Given the description of an element on the screen output the (x, y) to click on. 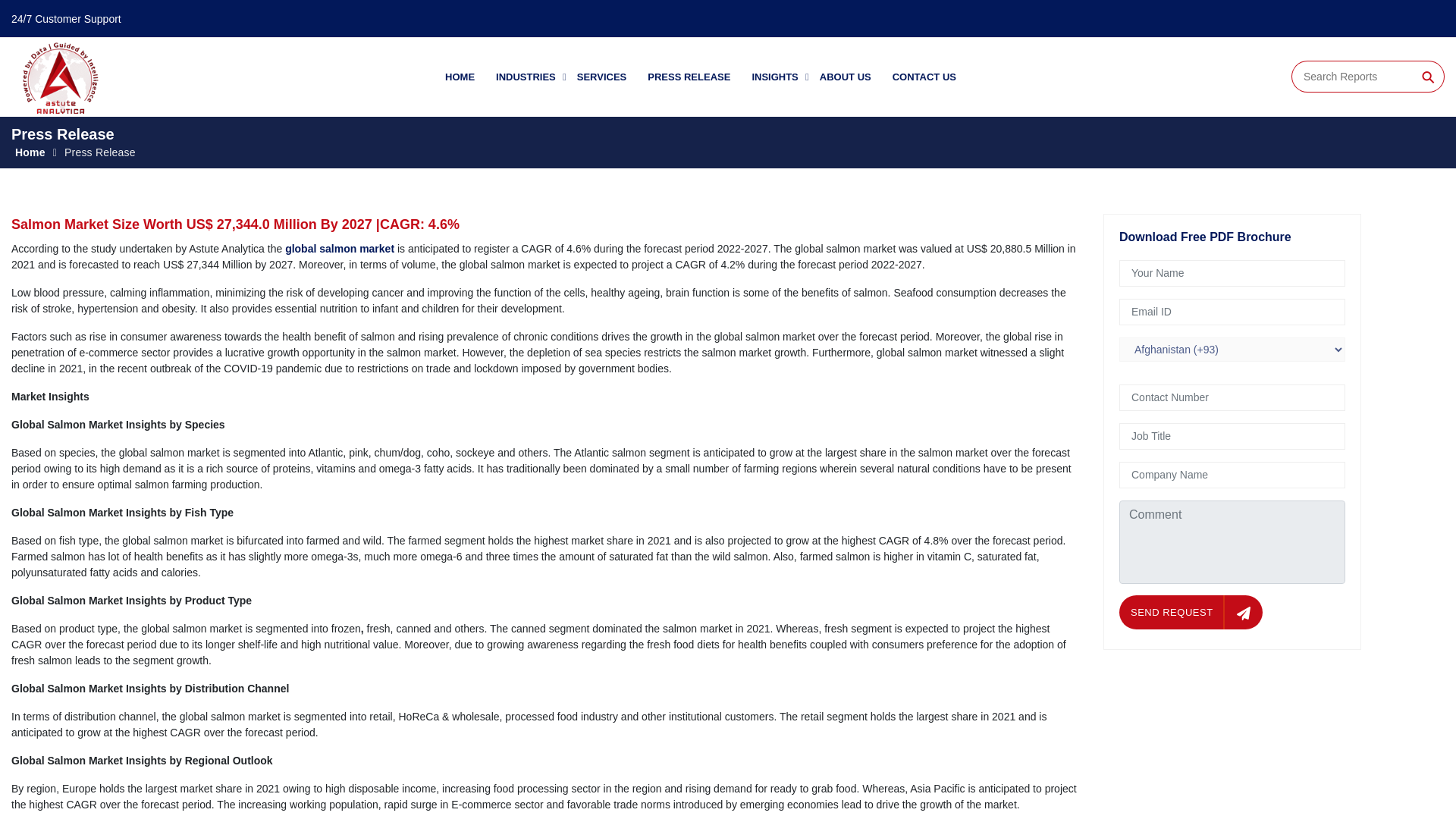
Home (29, 151)
PRESS RELEASE (688, 77)
global salmon market (339, 248)
